Given the description of an element on the screen output the (x, y) to click on. 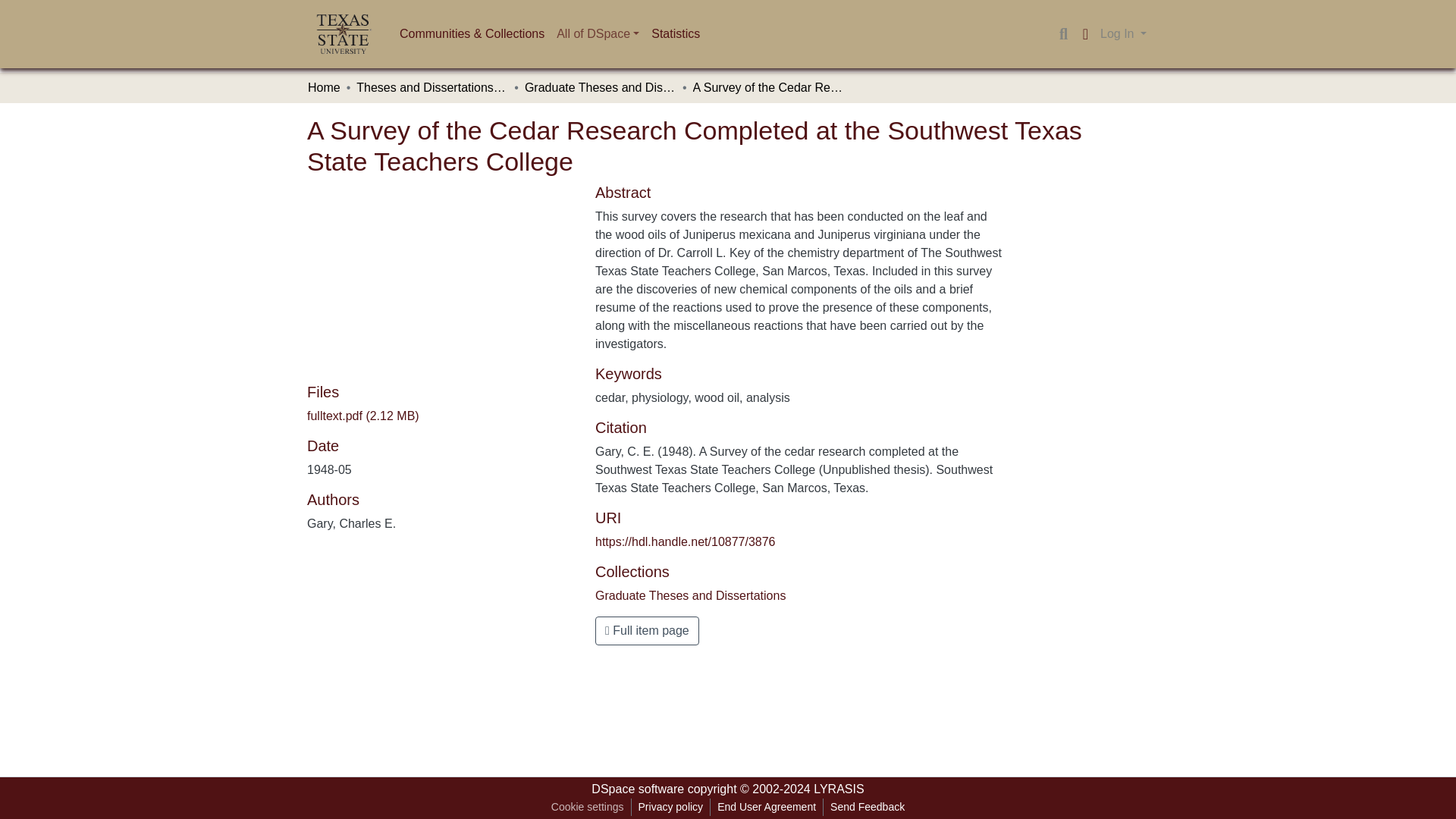
End User Agreement (766, 806)
Privacy policy (670, 806)
All of DSpace (597, 33)
Graduate Theses and Dissertations (600, 87)
Home (323, 87)
Theses and Dissertations, Capstones, and Directed Research (432, 87)
Cookie settings (587, 806)
Language switch (1084, 34)
Statistics (675, 33)
Search (1063, 34)
